Given the description of an element on the screen output the (x, y) to click on. 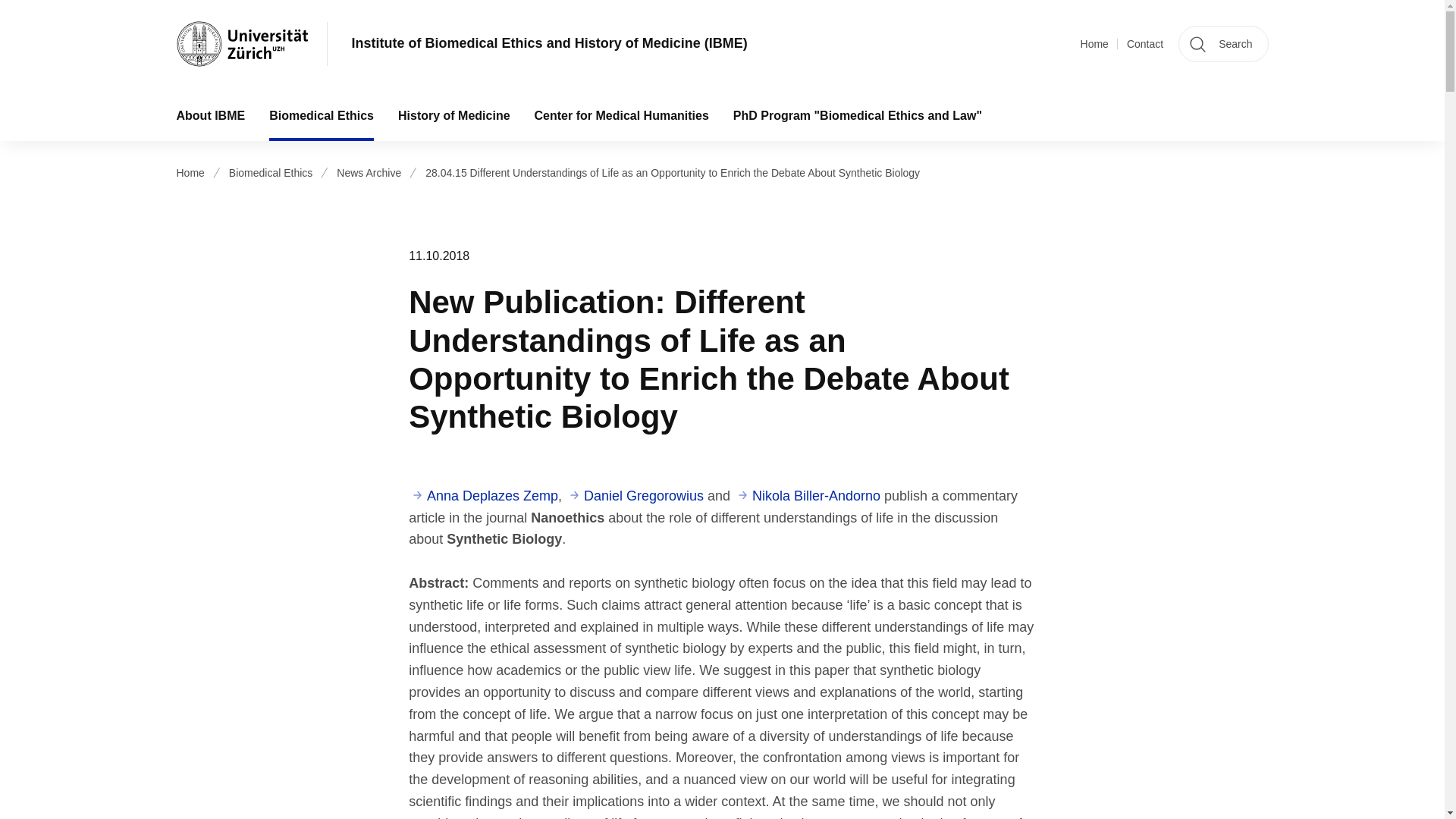
Contact (1144, 44)
About IBME (210, 115)
Search (1222, 43)
Biomedical Ethics (321, 115)
Home (1094, 44)
